Given the description of an element on the screen output the (x, y) to click on. 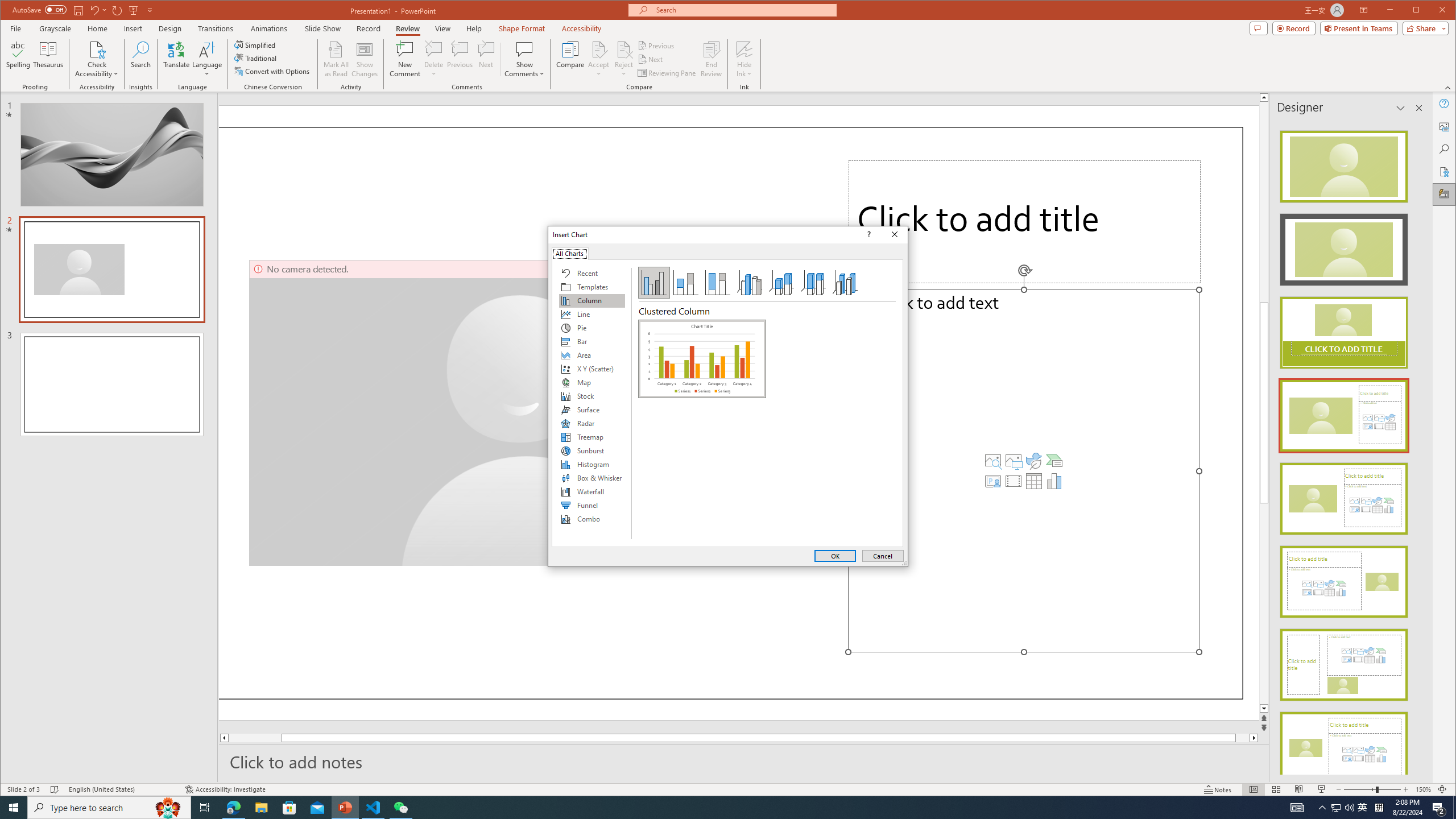
Traditional (256, 57)
Histogram (591, 464)
Class: NetUIScrollBar (1417, 447)
Translate (175, 59)
3-D 100% Stacked Column (813, 282)
